Given the description of an element on the screen output the (x, y) to click on. 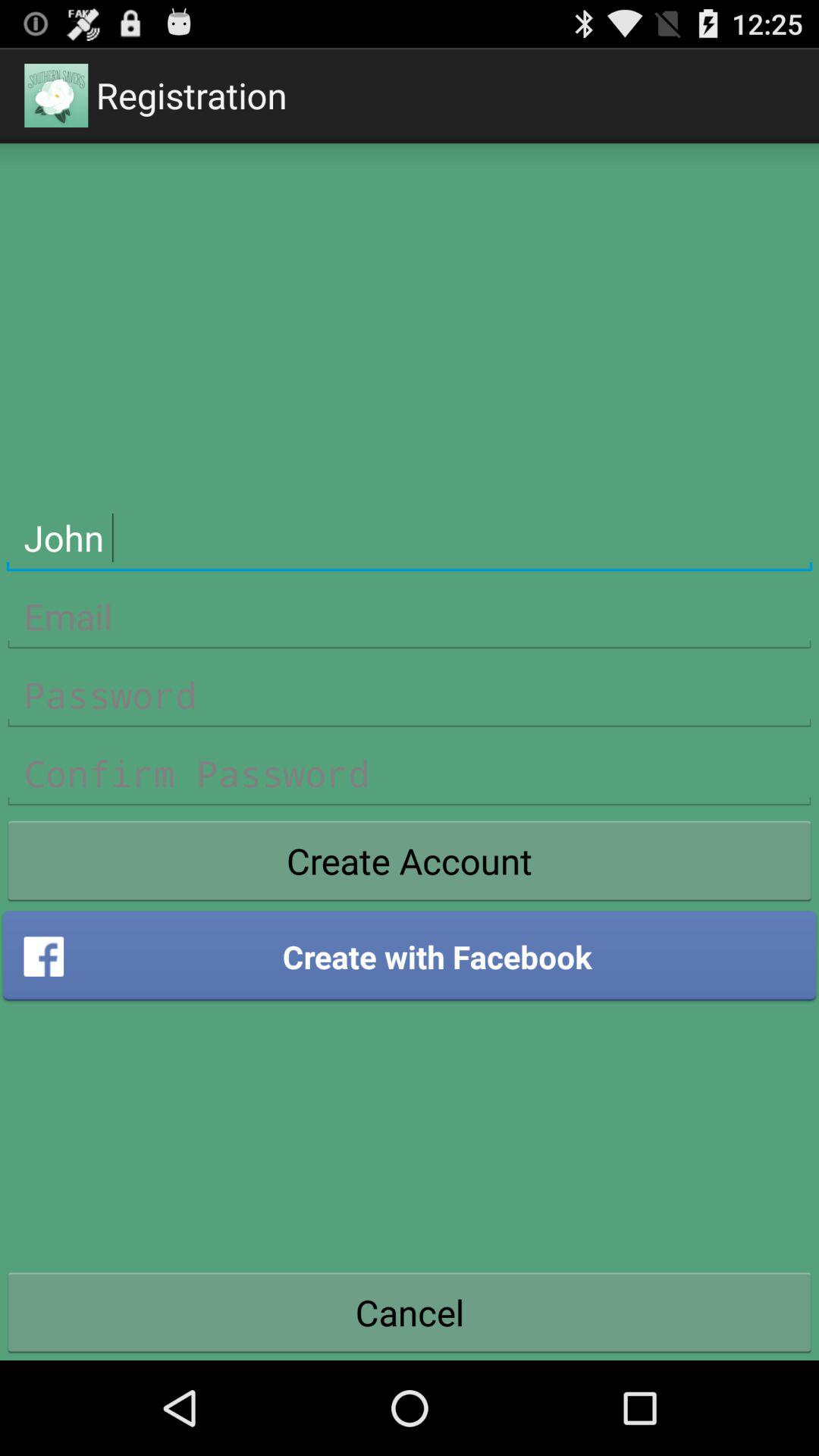
line to enter email (409, 616)
